Given the description of an element on the screen output the (x, y) to click on. 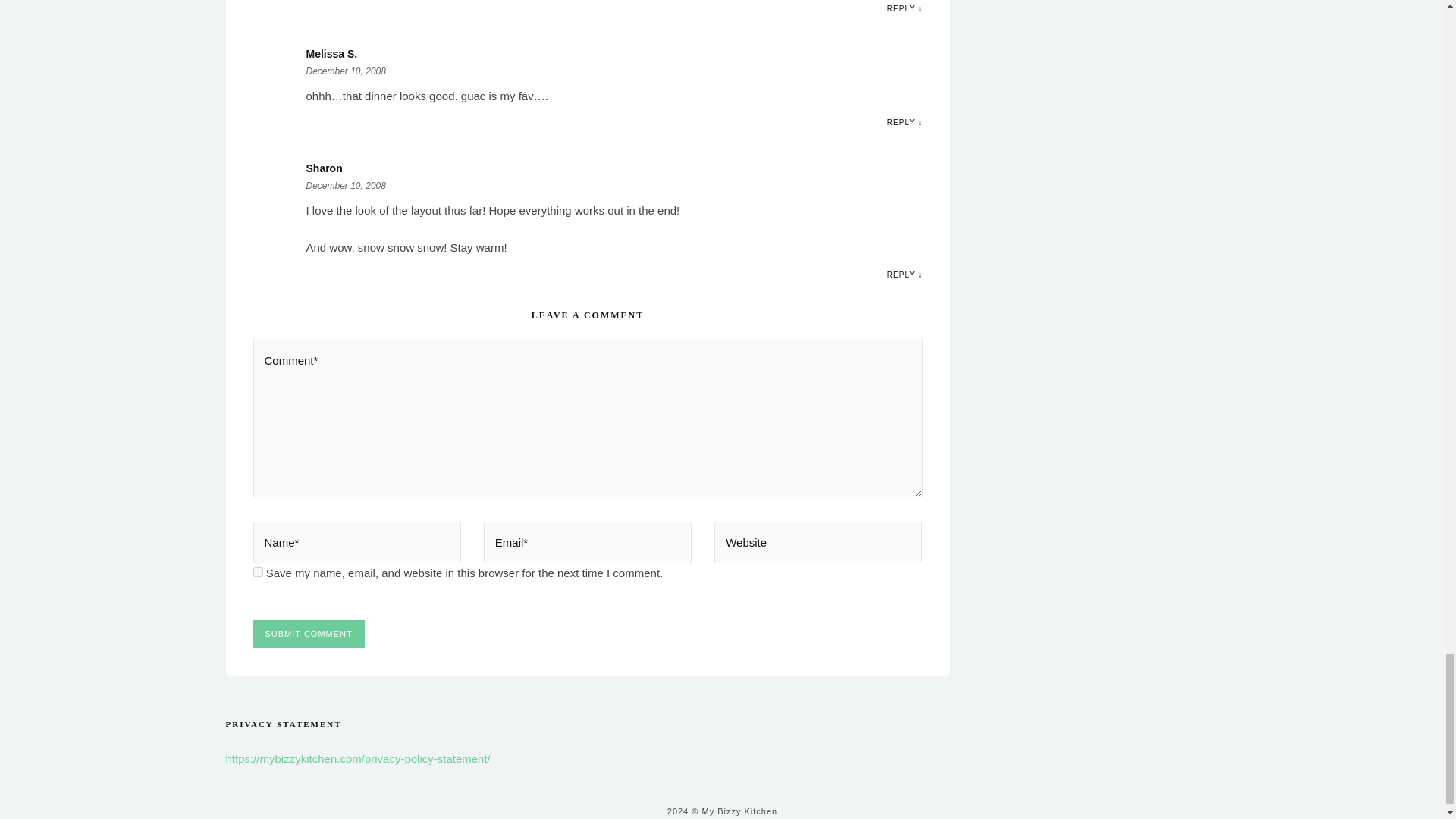
yes (258, 572)
Submit Comment (309, 633)
